Given the description of an element on the screen output the (x, y) to click on. 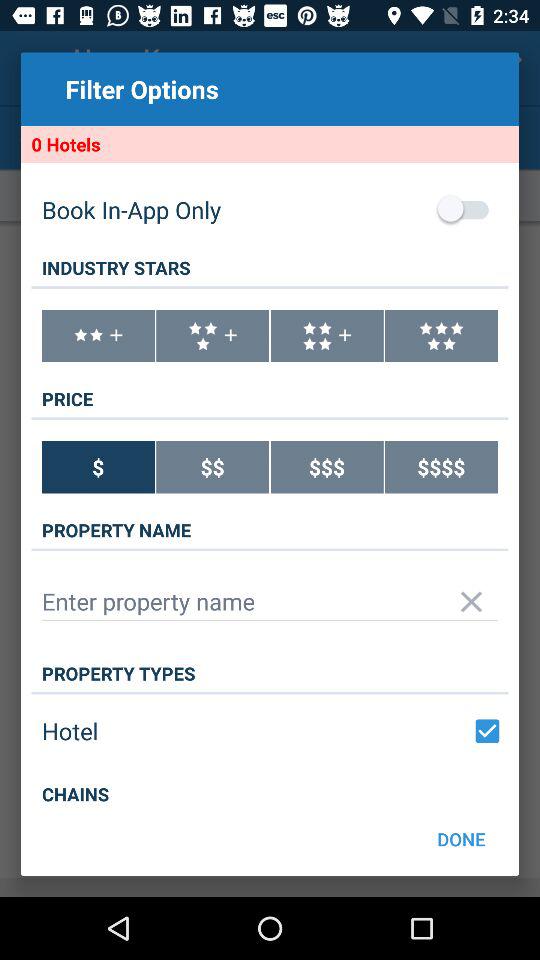
rate 5 stars (441, 335)
